Given the description of an element on the screen output the (x, y) to click on. 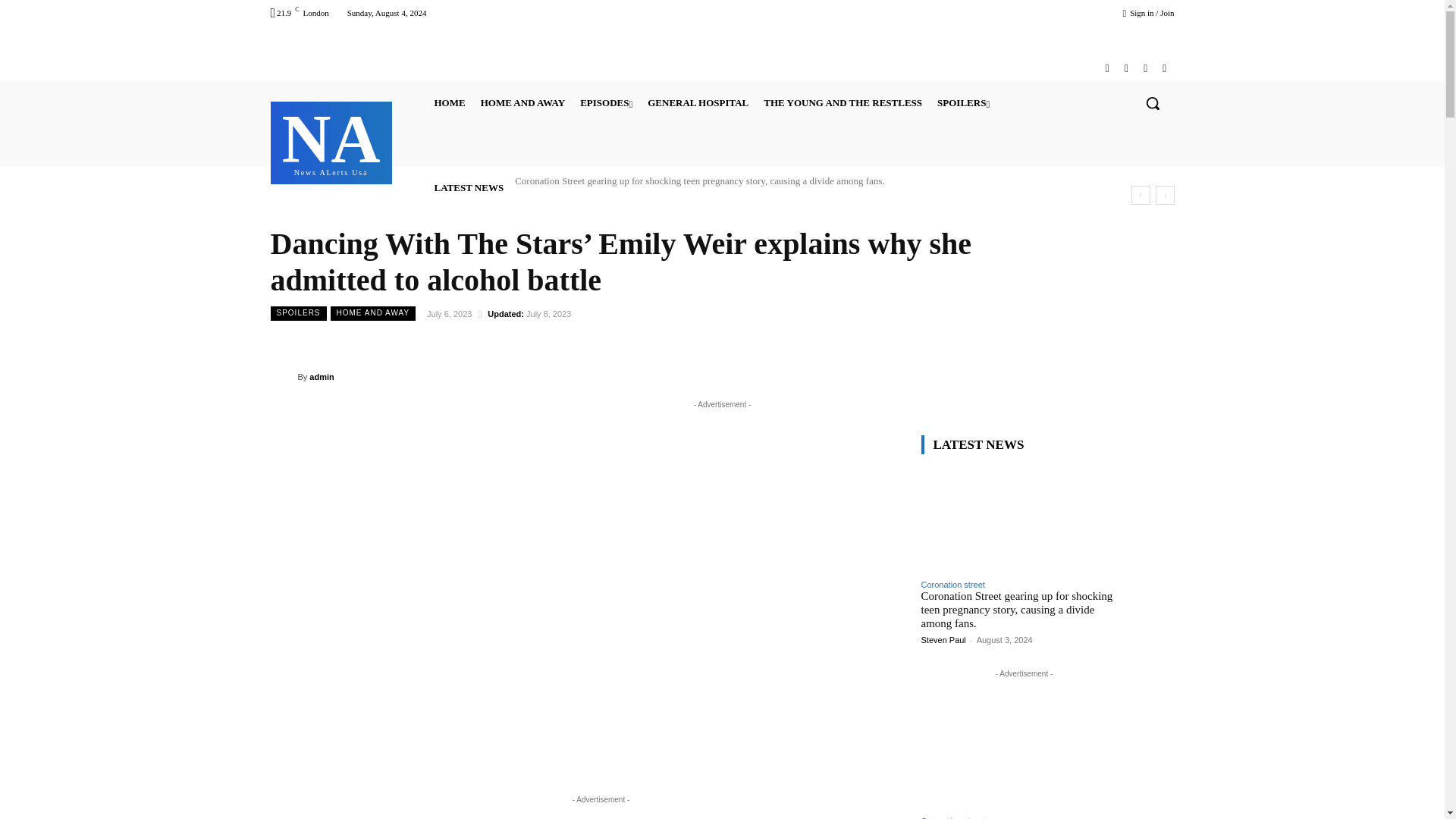
HOME (449, 102)
THE YOUNG AND THE RESTLESS (842, 102)
Facebook (1106, 67)
SPOILERS (963, 102)
HOME AND AWAY (522, 102)
EPISODES (606, 102)
GENERAL HOSPITAL (698, 102)
